Given the description of an element on the screen output the (x, y) to click on. 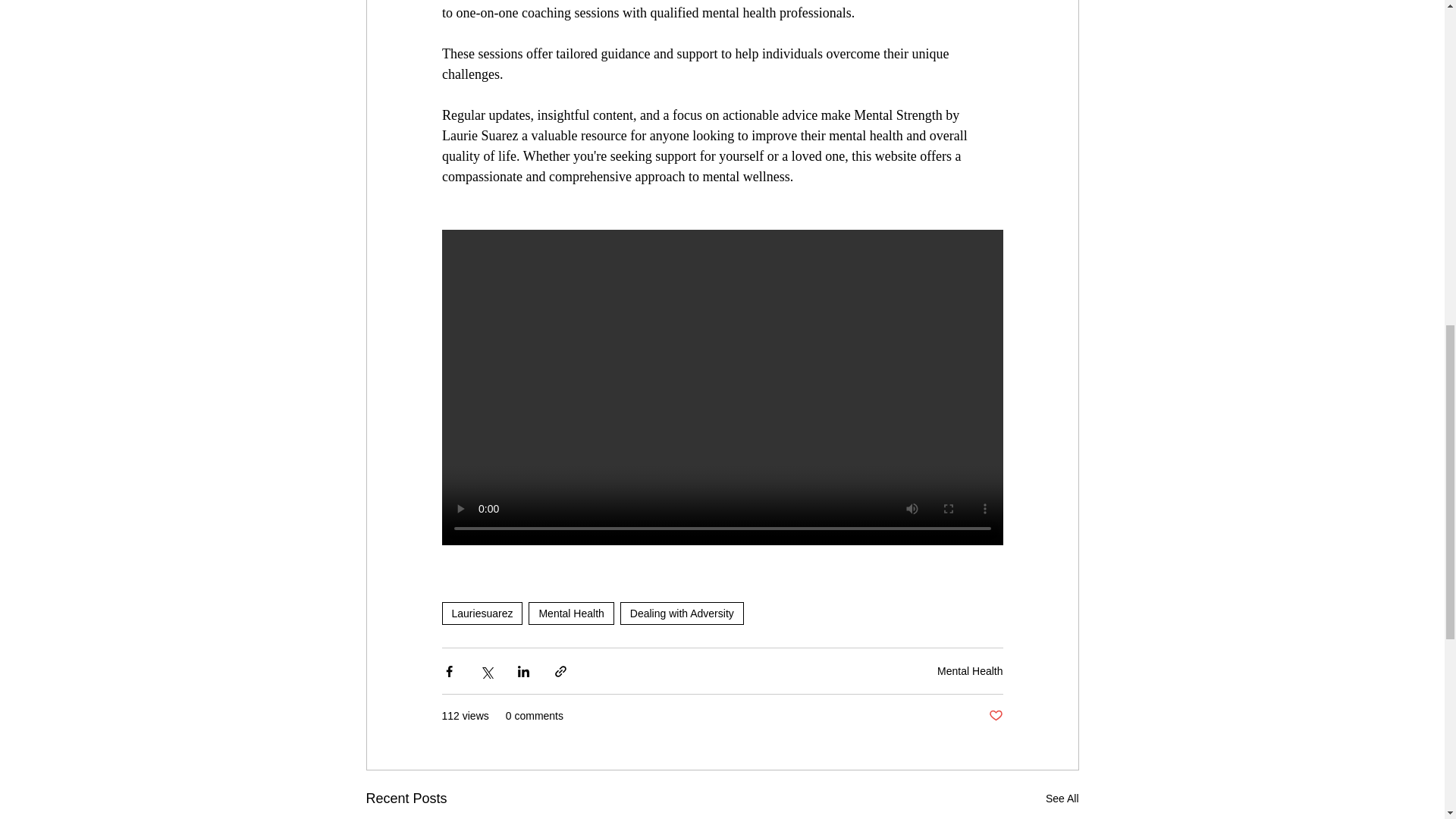
Mental Health (570, 612)
See All (1061, 798)
Mental Health (970, 671)
Lauriesuarez (481, 612)
Post not marked as liked (995, 715)
Dealing with Adversity (682, 612)
